Given the description of an element on the screen output the (x, y) to click on. 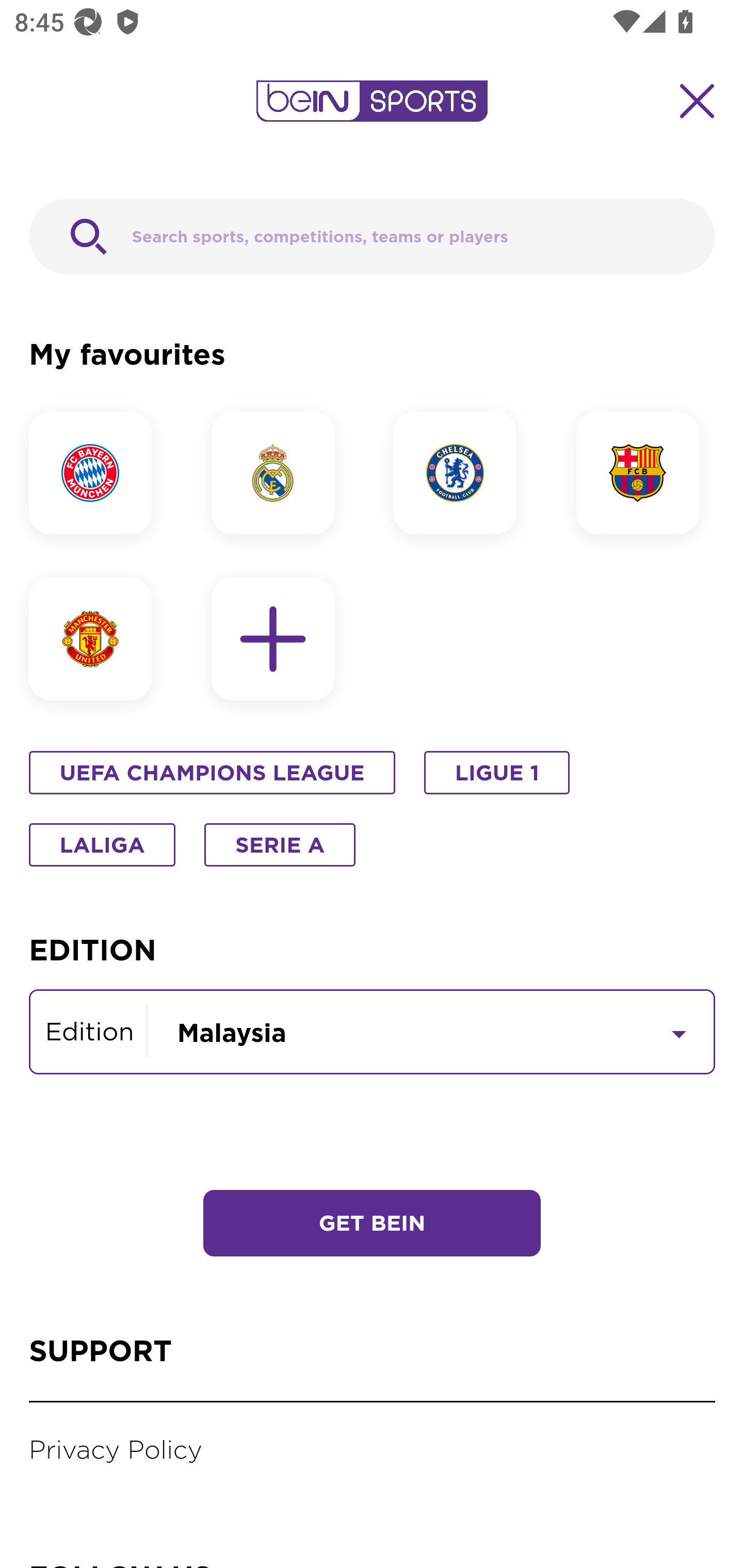
en-my?platform=mobile_android bein logo (371, 101)
Close Menu Icon (697, 101)
